Given the description of an element on the screen output the (x, y) to click on. 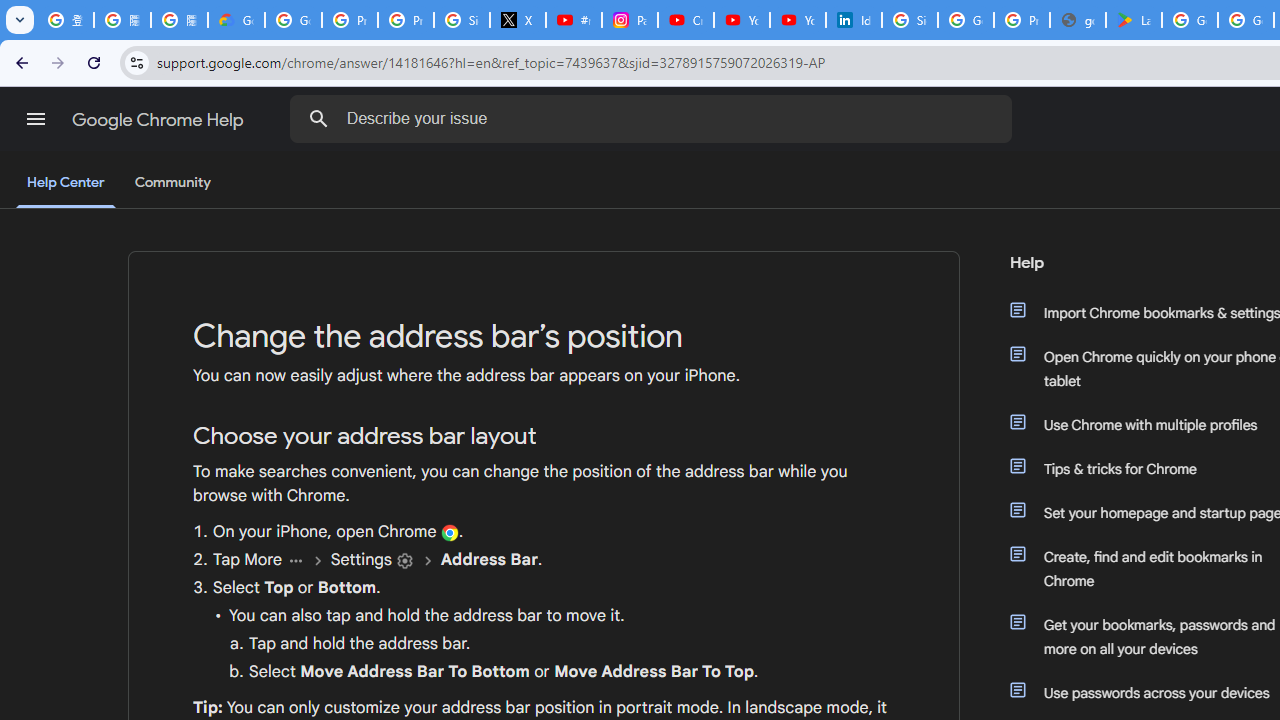
Google Cloud Privacy Notice (235, 20)
Search Help Center (318, 118)
YouTube Culture & Trends - YouTube Top 10, 2021 (797, 20)
Settings (404, 560)
#nbabasketballhighlights - YouTube (573, 20)
More (294, 560)
Help Center (65, 183)
Community (171, 183)
